Given the description of an element on the screen output the (x, y) to click on. 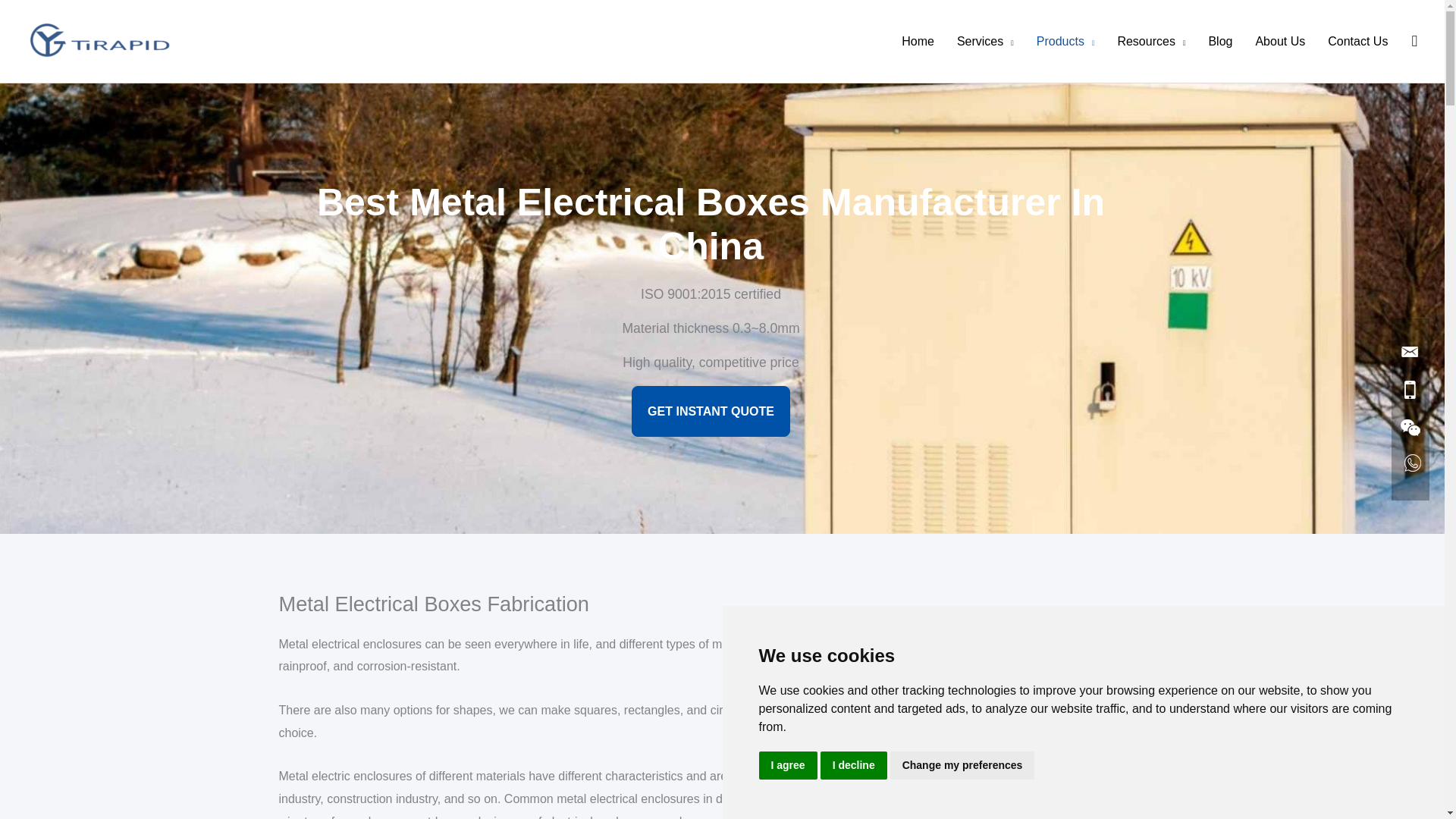
I agree (787, 765)
Change my preferences (962, 765)
I decline (853, 765)
Products (1065, 41)
Resources (1150, 41)
Services (984, 41)
